Given the description of an element on the screen output the (x, y) to click on. 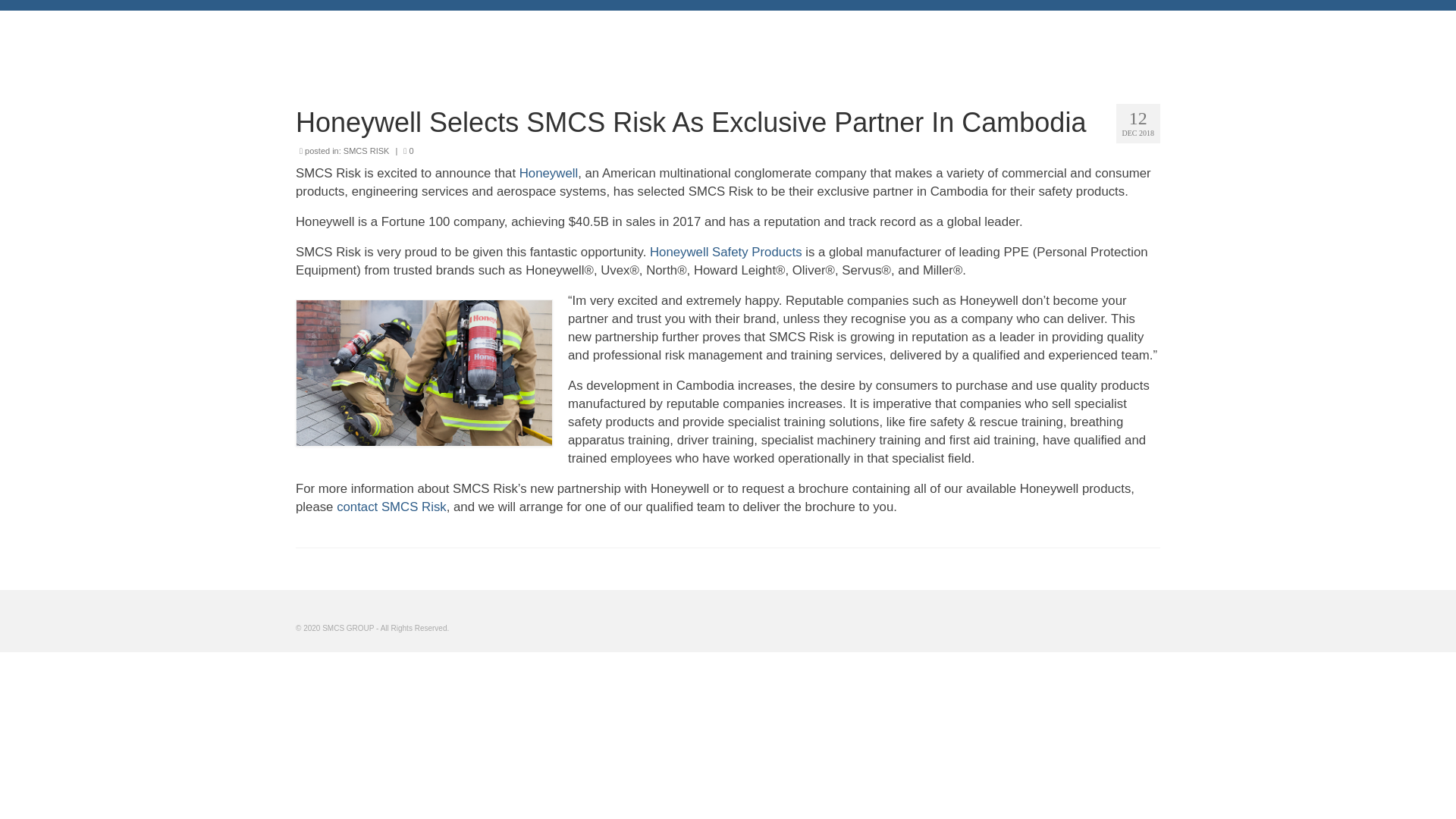
PROJECTS (979, 39)
SMCS RISK (366, 150)
ABOUT US (897, 39)
NEWS (1050, 39)
CONTACT (1120, 39)
HOME (825, 39)
SMCS GROUP (370, 24)
contact SMCS Risk (391, 506)
Honeywell Safety Products (725, 251)
Honeywell (548, 173)
